Given the description of an element on the screen output the (x, y) to click on. 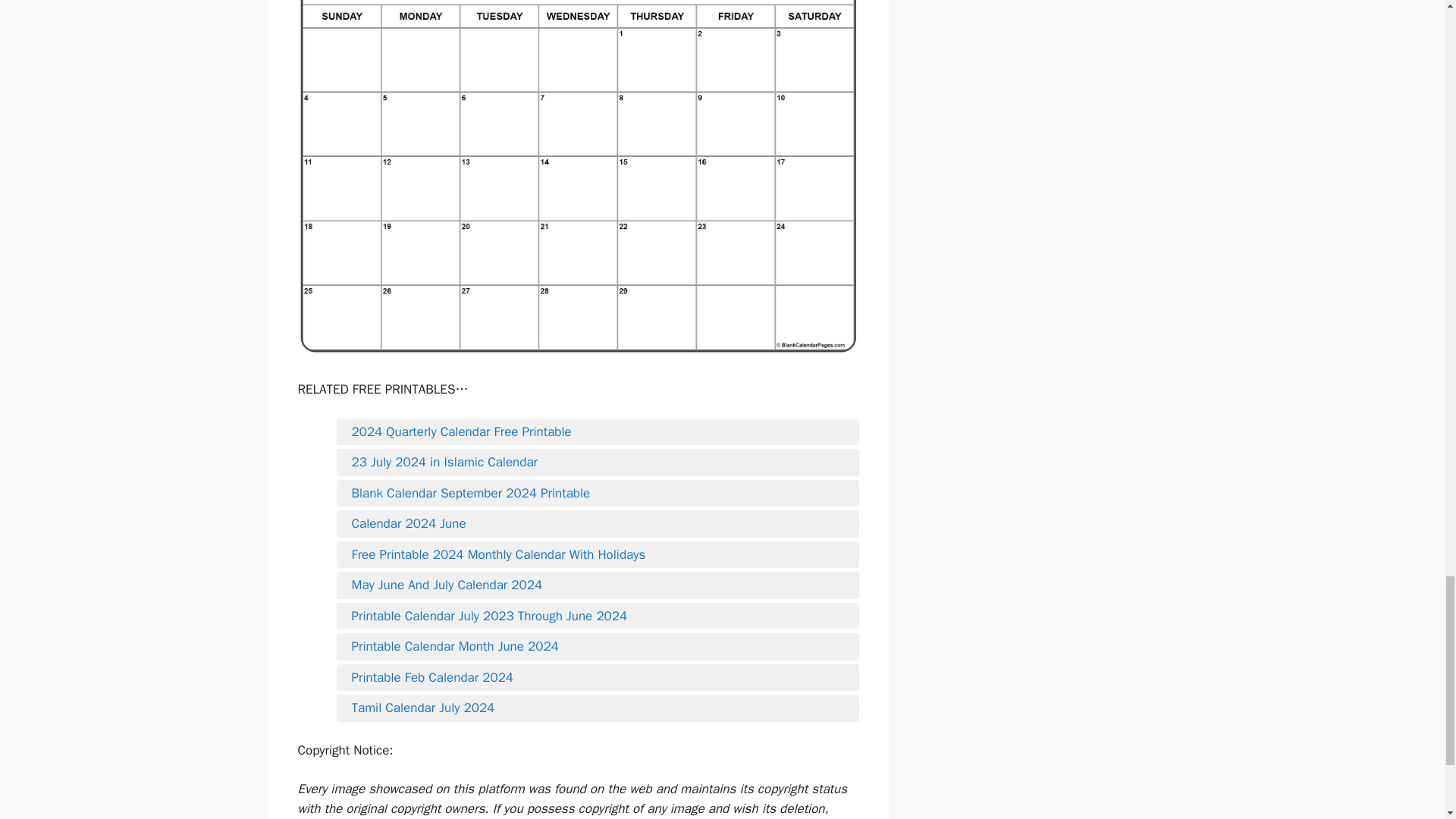
Printable Calendar July 2023 Through June 2024 (597, 616)
Printable Feb Calendar 2024 (597, 677)
2024 Quarterly Calendar Free Printable (597, 431)
Blank Calendar September 2024 Printable (597, 493)
Free Printable 2024 Monthly Calendar With Holidays (597, 554)
23 July 2024 in Islamic Calendar (597, 462)
May June And July Calendar 2024 (597, 585)
Calendar 2024 June (597, 523)
Tamil Calendar July 2024 (597, 707)
Printable Calendar Month June 2024 (597, 646)
